Given the description of an element on the screen output the (x, y) to click on. 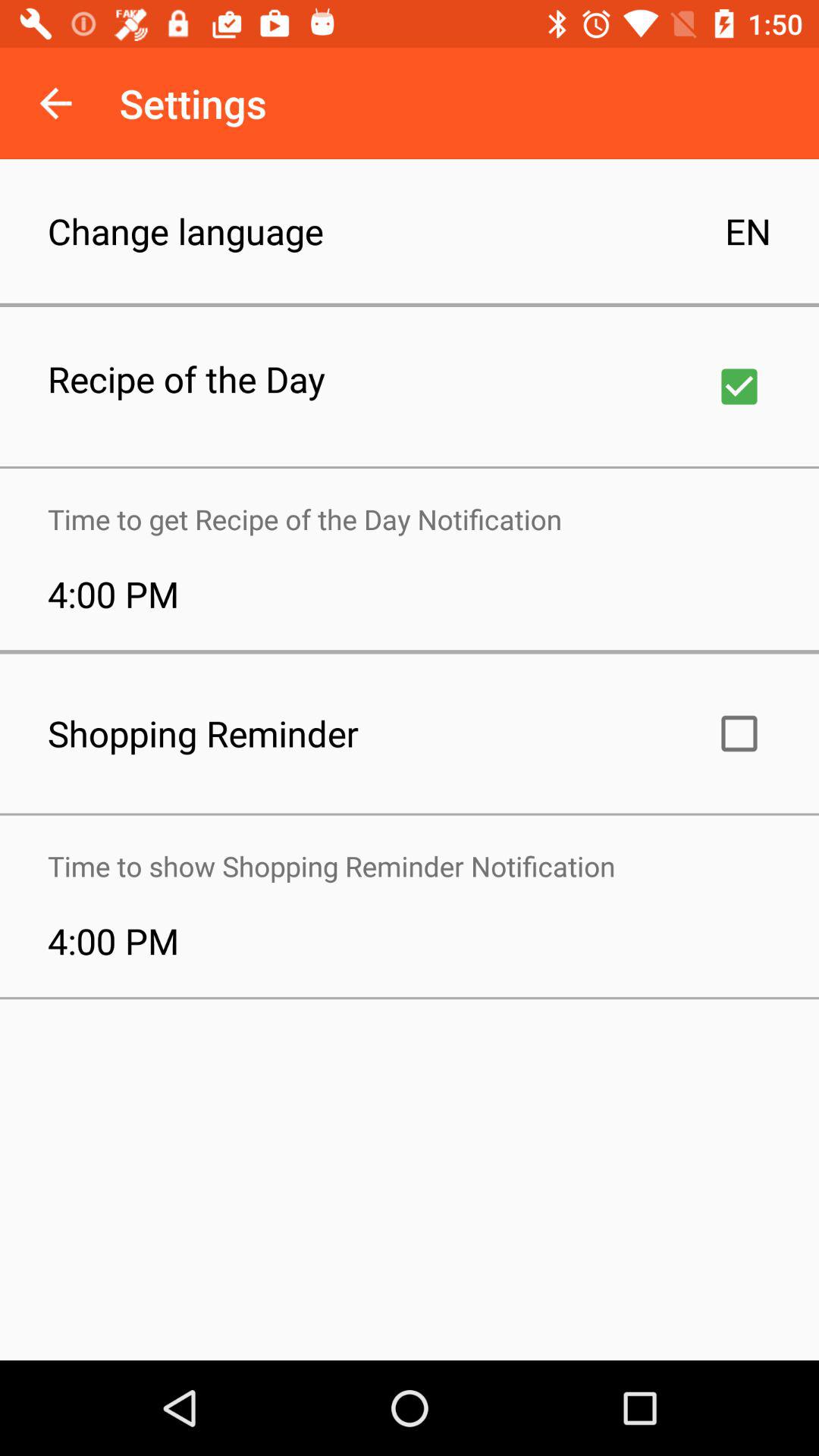
press the item to the left of settings item (55, 103)
